Given the description of an element on the screen output the (x, y) to click on. 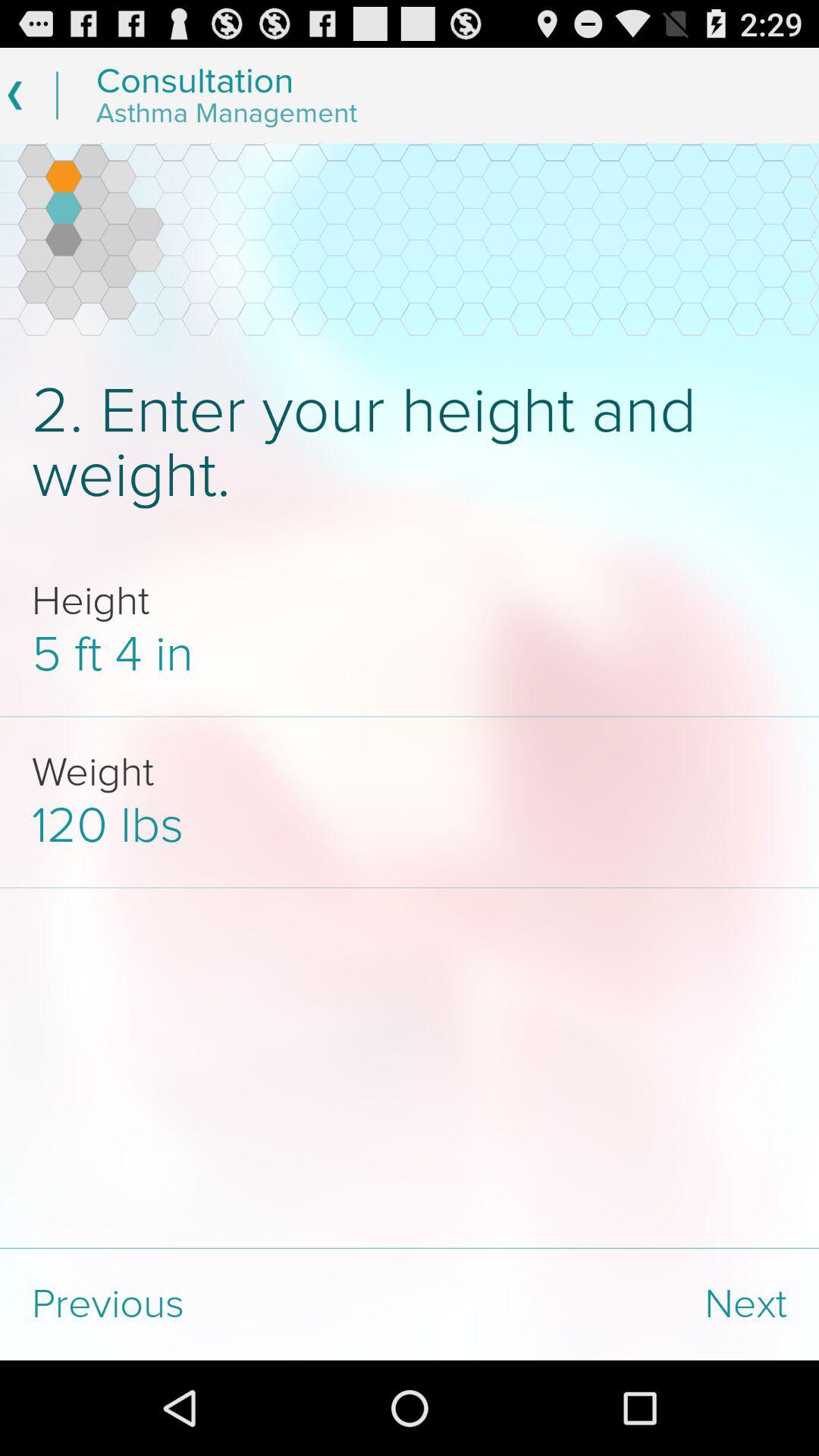
scroll until next (614, 1304)
